Given the description of an element on the screen output the (x, y) to click on. 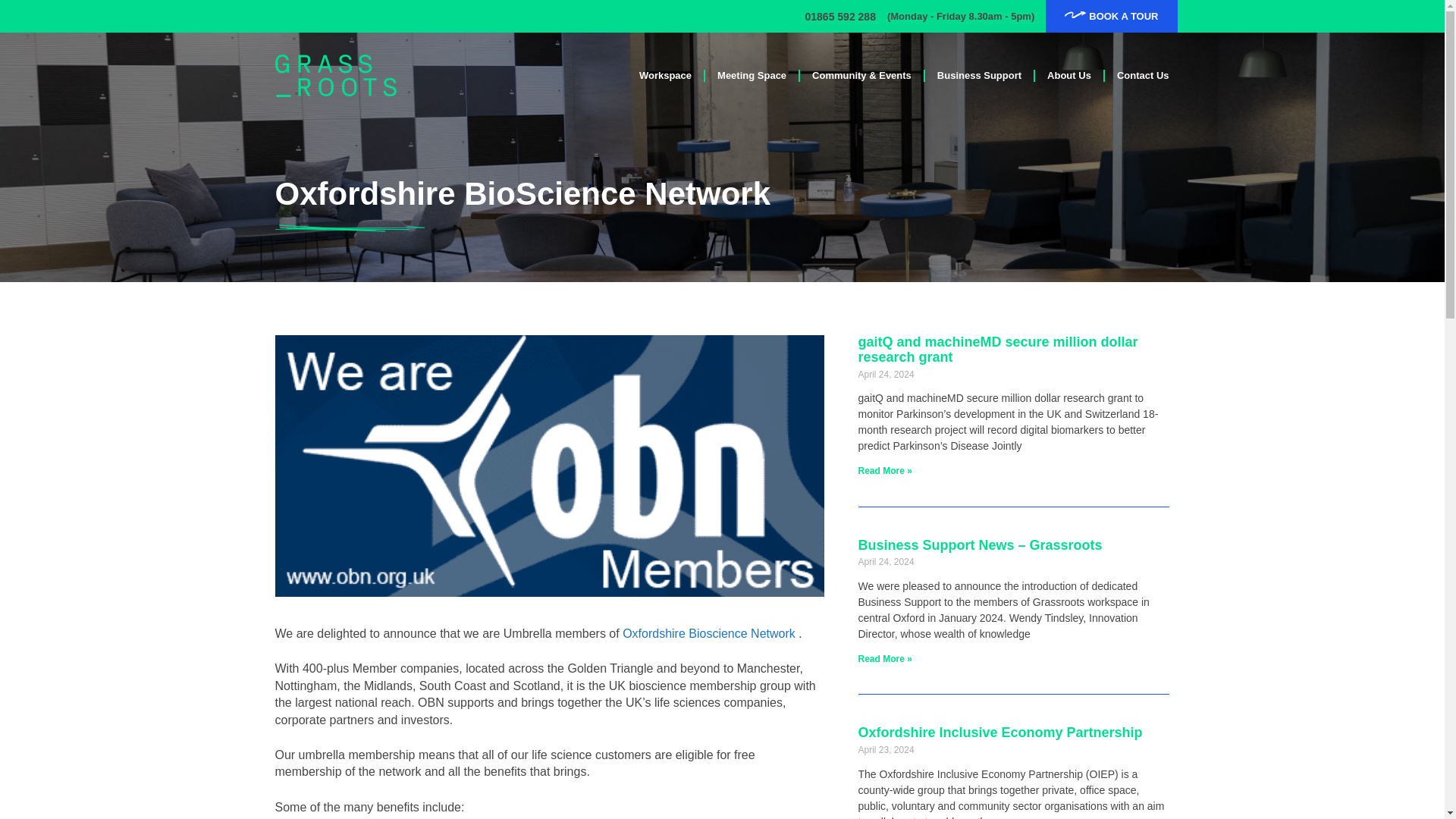
BOOK A TOUR (1110, 16)
01865 592 288 (840, 16)
Workspace (665, 75)
Meeting Space (750, 75)
Contact Us (1142, 75)
About Us (1069, 75)
gaitQ and machineMD secure million dollar research grant (998, 349)
Business Support (978, 75)
Oxfordshire Inclusive Economy Partnership (1000, 732)
Oxfordshire Bioscience Network (708, 633)
